Given the description of an element on the screen output the (x, y) to click on. 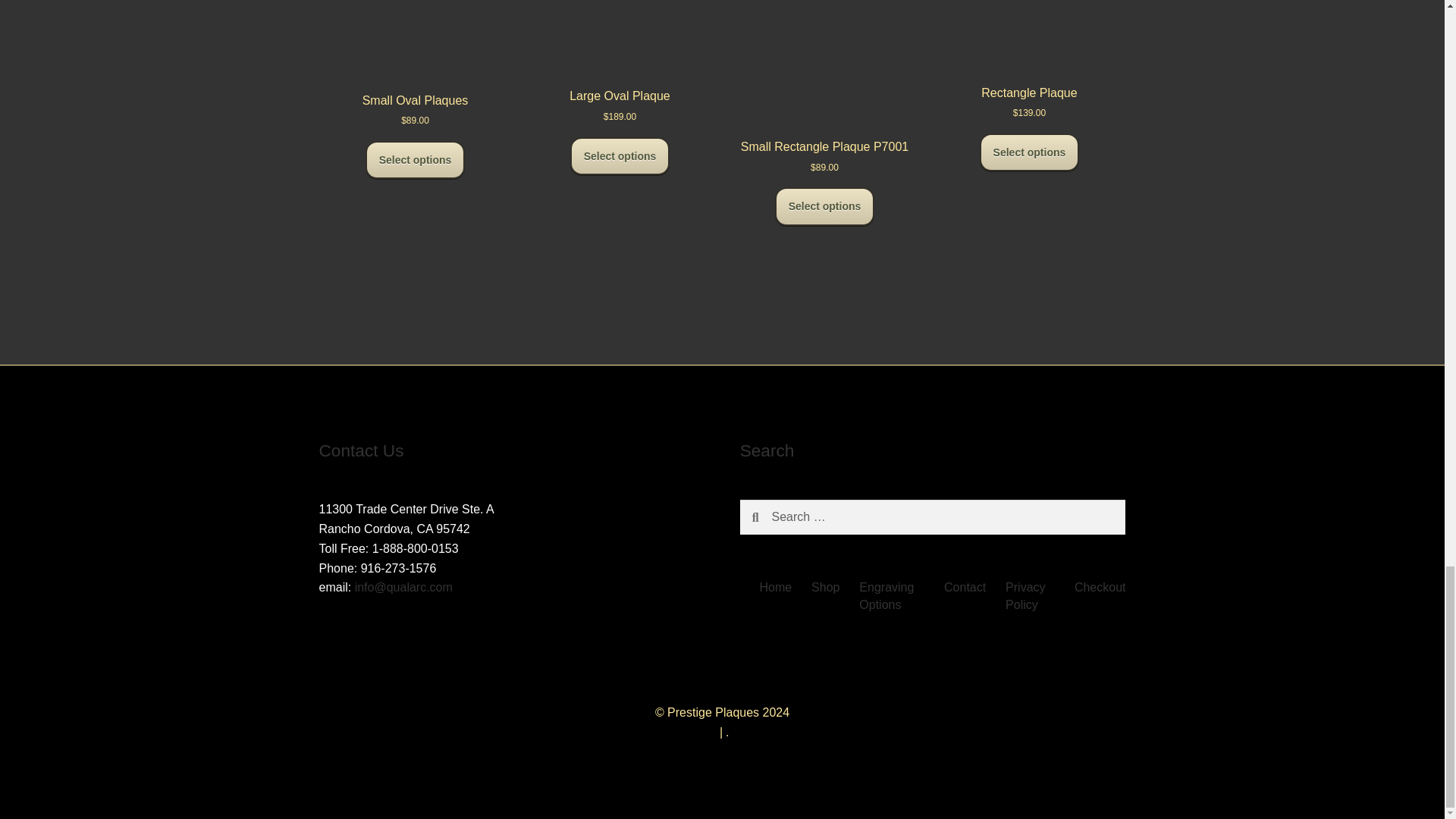
Select options (824, 206)
Select options (619, 155)
Select options (415, 159)
Small Oval Plaques (415, 56)
Large Oval Plaque (619, 54)
Small Rectangle Plaque P7001 (824, 79)
Rectangle Plaque (1029, 53)
Select options (1029, 152)
